Given the description of an element on the screen output the (x, y) to click on. 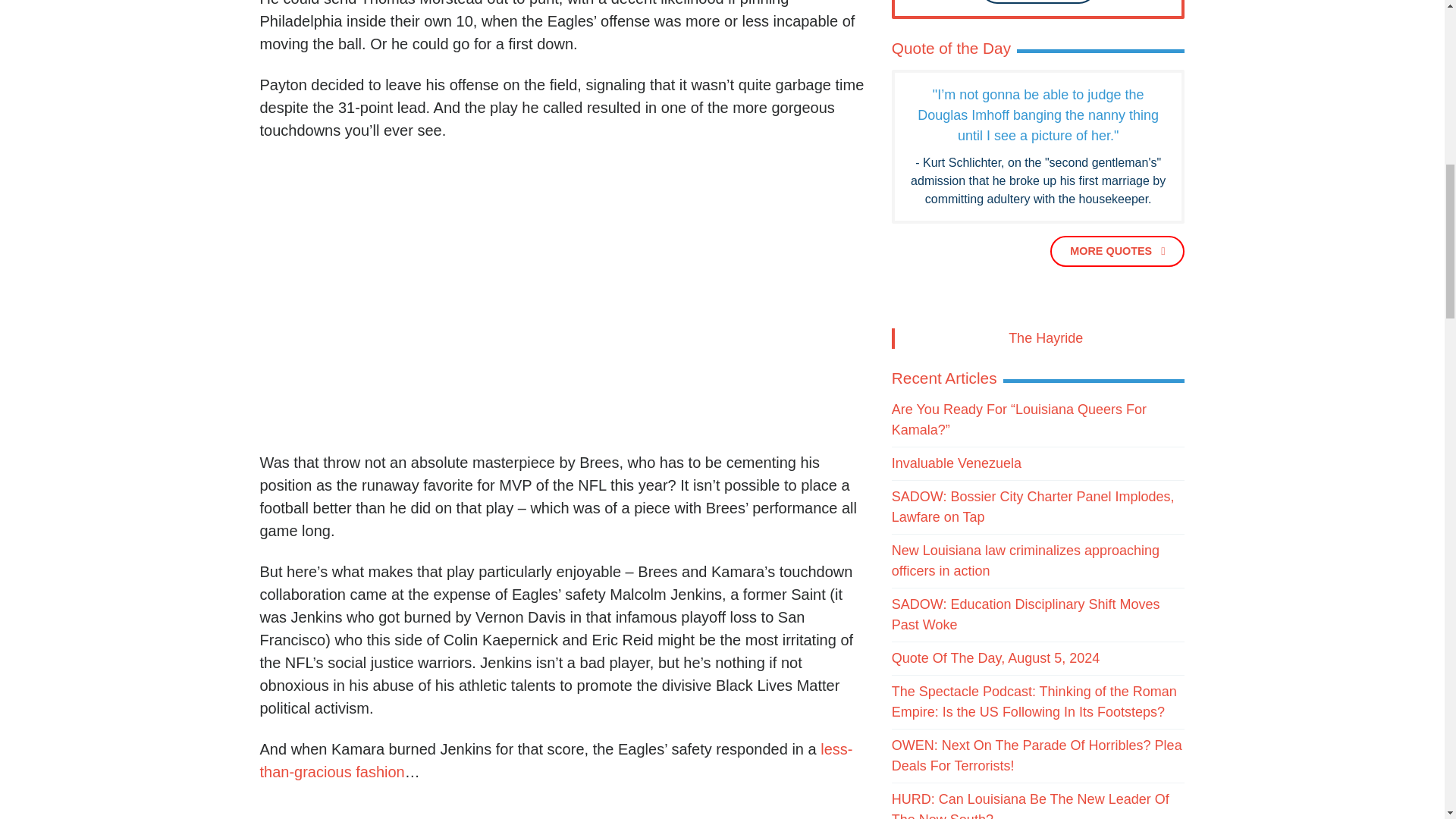
less-than-gracious fashion (555, 760)
